Given the description of an element on the screen output the (x, y) to click on. 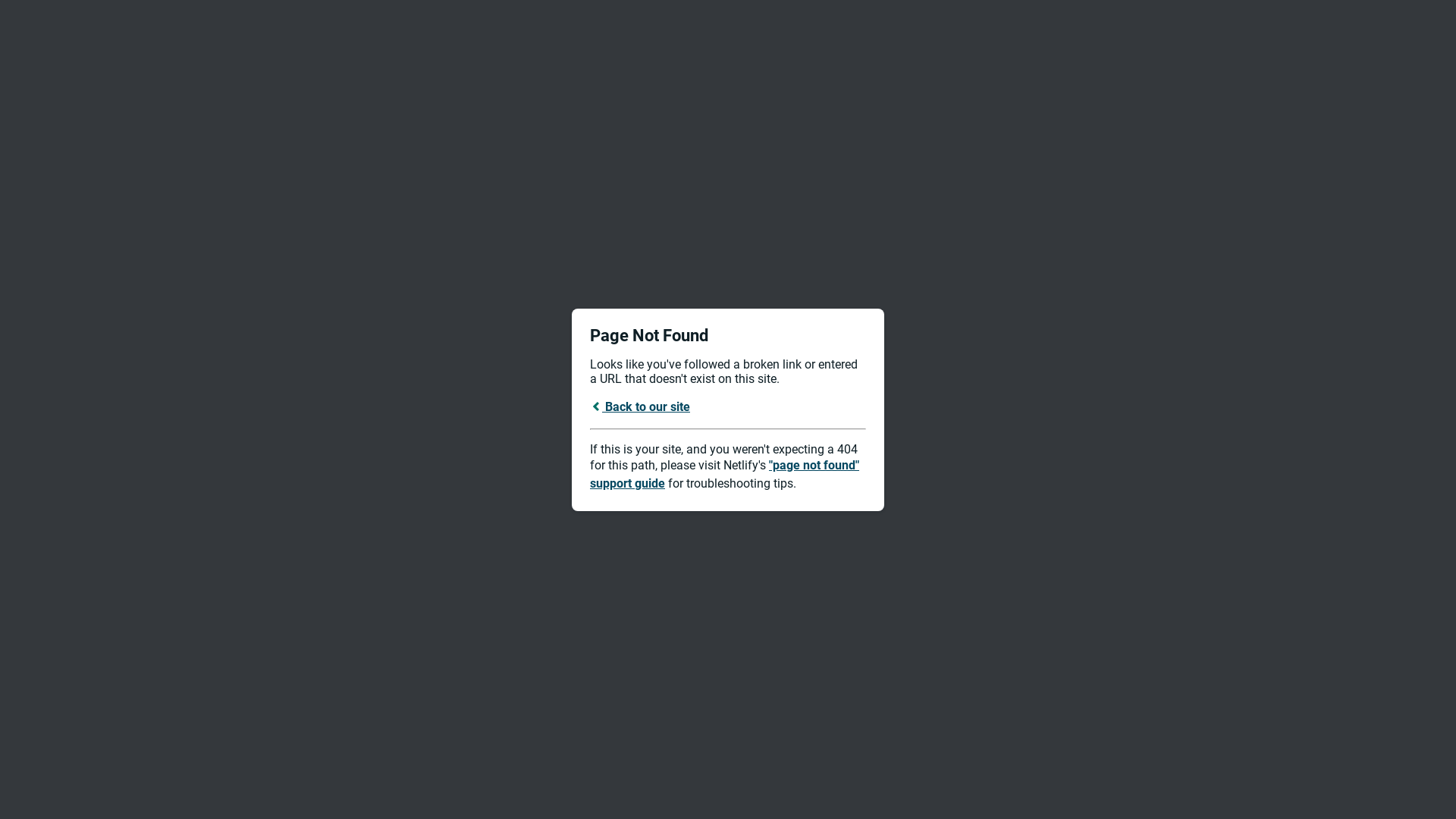
"page not found" support guide Element type: text (724, 474)
Back to our site Element type: text (639, 405)
